Given the description of an element on the screen output the (x, y) to click on. 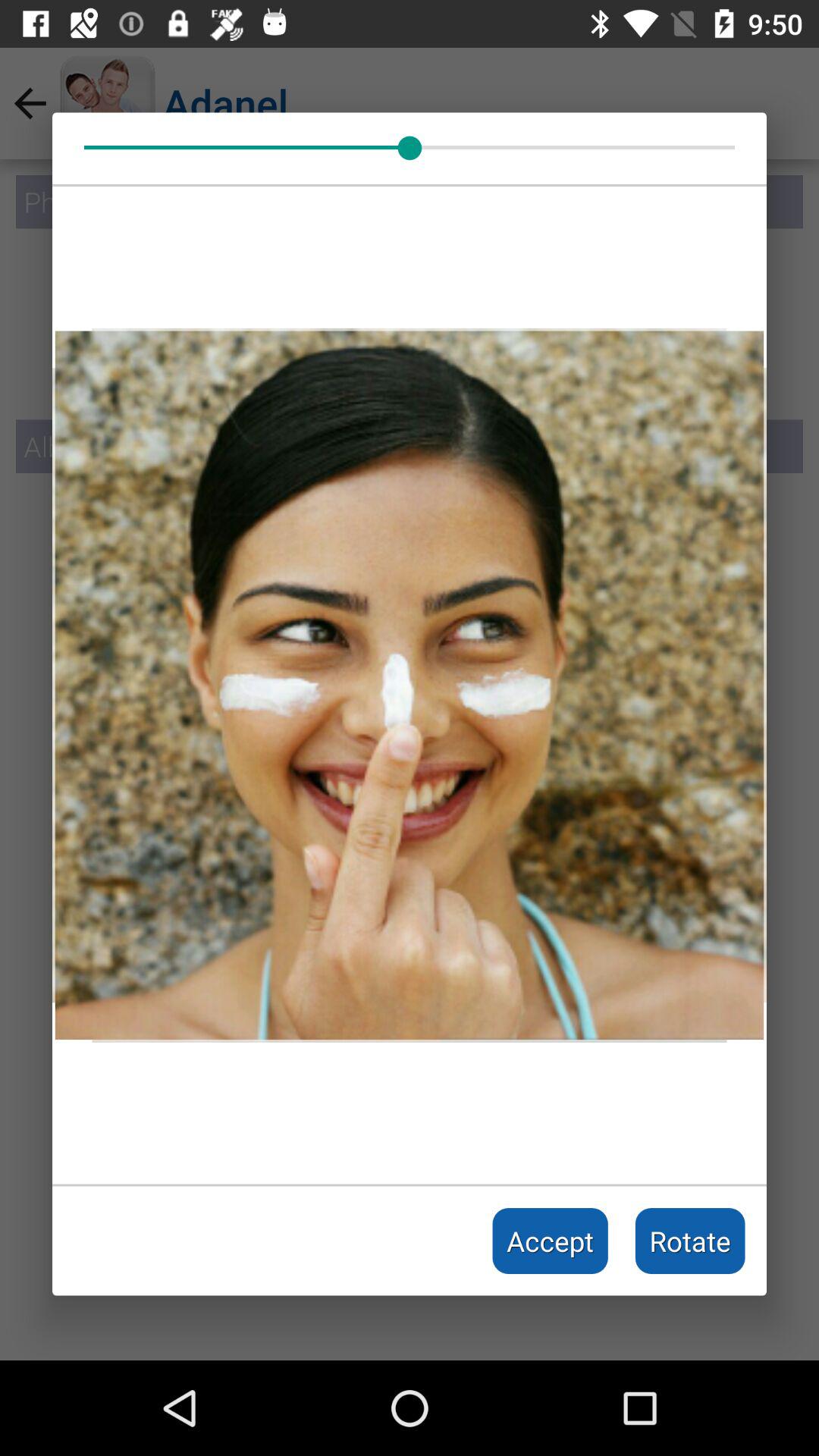
click rotate icon (689, 1240)
